Given the description of an element on the screen output the (x, y) to click on. 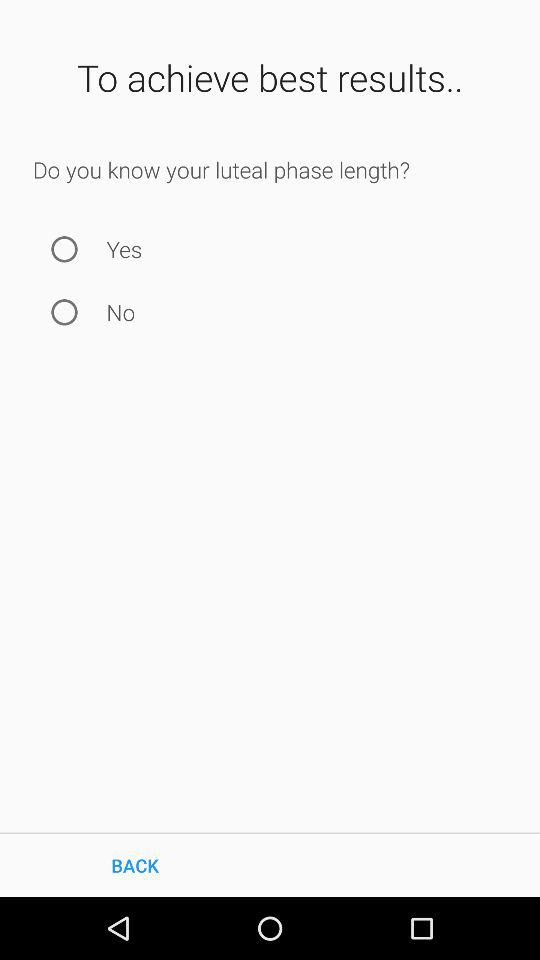
open back item (135, 864)
